Given the description of an element on the screen output the (x, y) to click on. 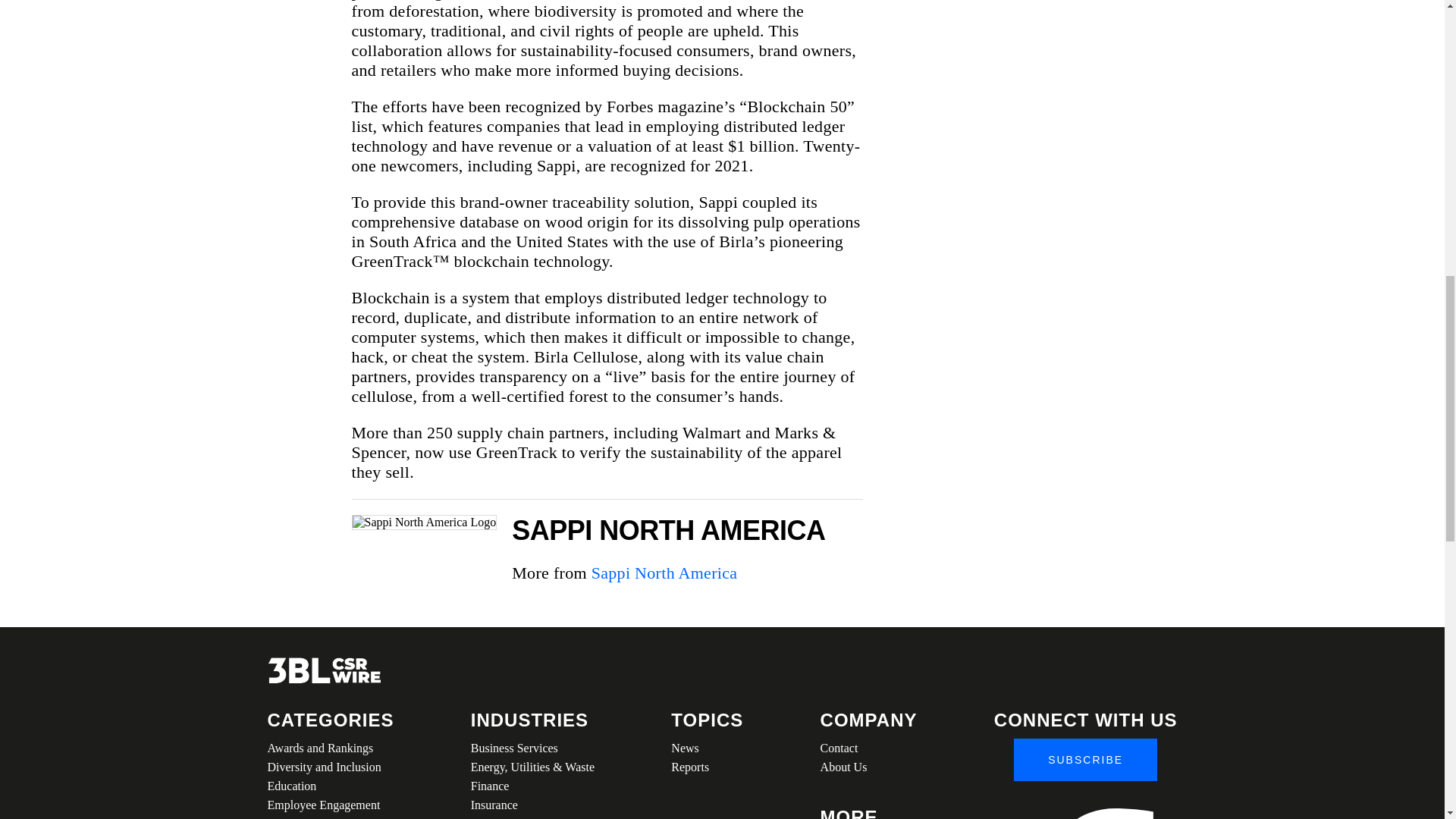
Sappi North America (664, 572)
Diversity and Inclusion (329, 766)
Environmental Resources (329, 816)
Awards and Rankings (329, 747)
Employee Engagement (329, 804)
CATEGORIES (329, 720)
Education (329, 785)
